Given the description of an element on the screen output the (x, y) to click on. 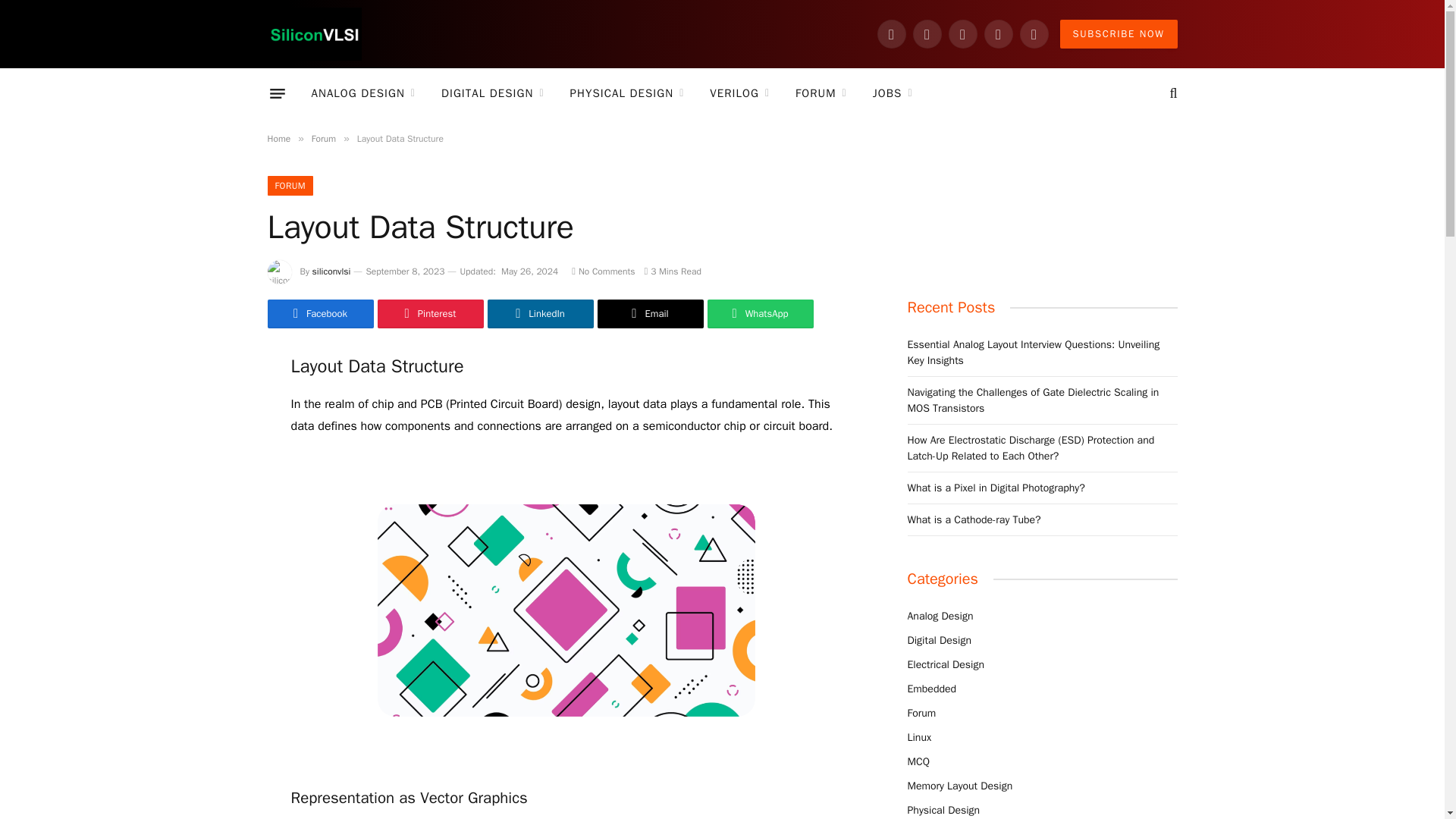
WhatsApp (1034, 33)
Instagram (927, 33)
Posts by siliconvlsi (331, 271)
Facebook (891, 33)
PHYSICAL DESIGN (627, 92)
Share via Email (649, 313)
Share on WhatsApp (759, 313)
VERILOG (740, 92)
ANALOG DESIGN (363, 92)
LinkedIn (998, 33)
